Given the description of an element on the screen output the (x, y) to click on. 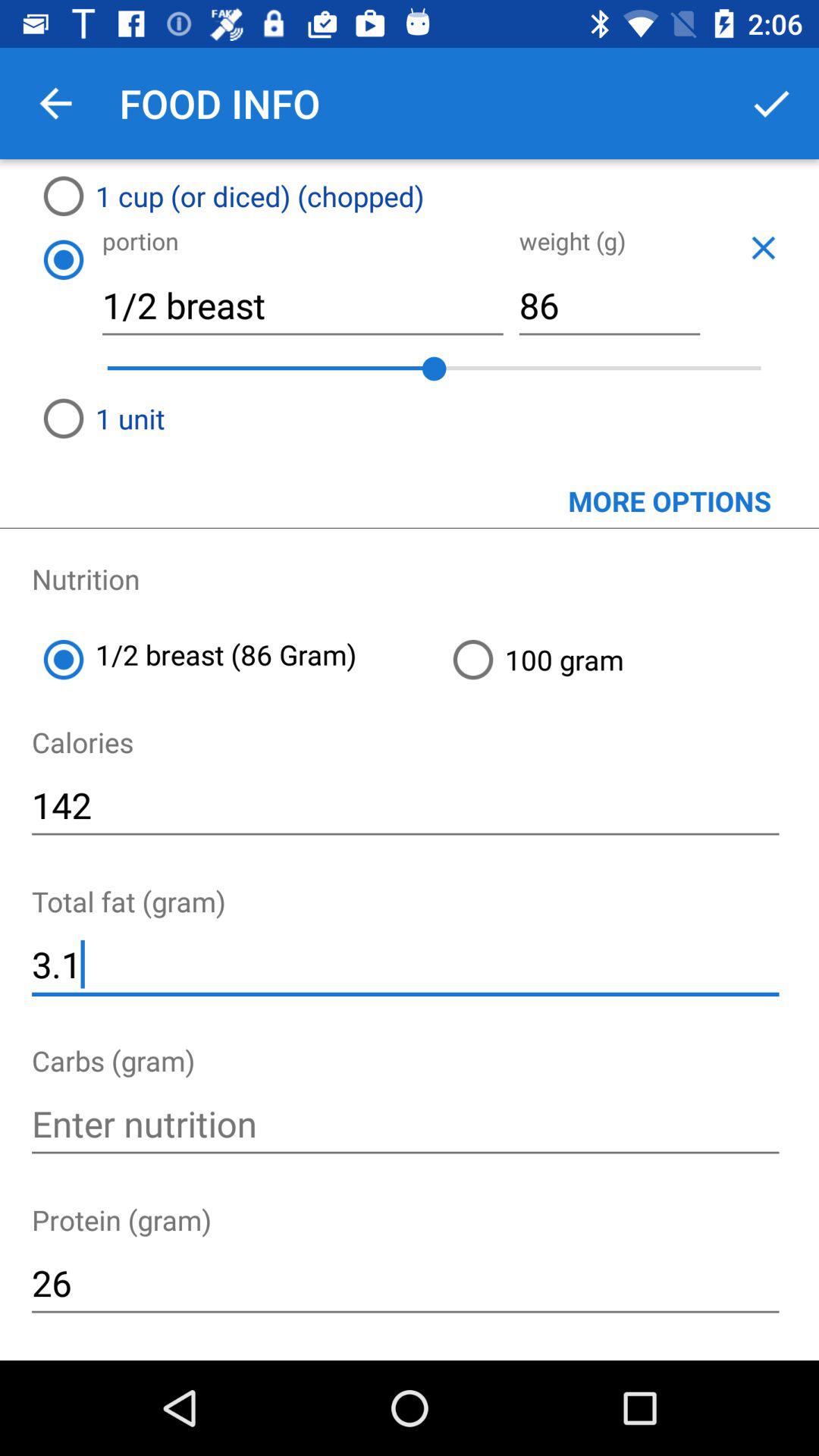
close (763, 247)
